Given the description of an element on the screen output the (x, y) to click on. 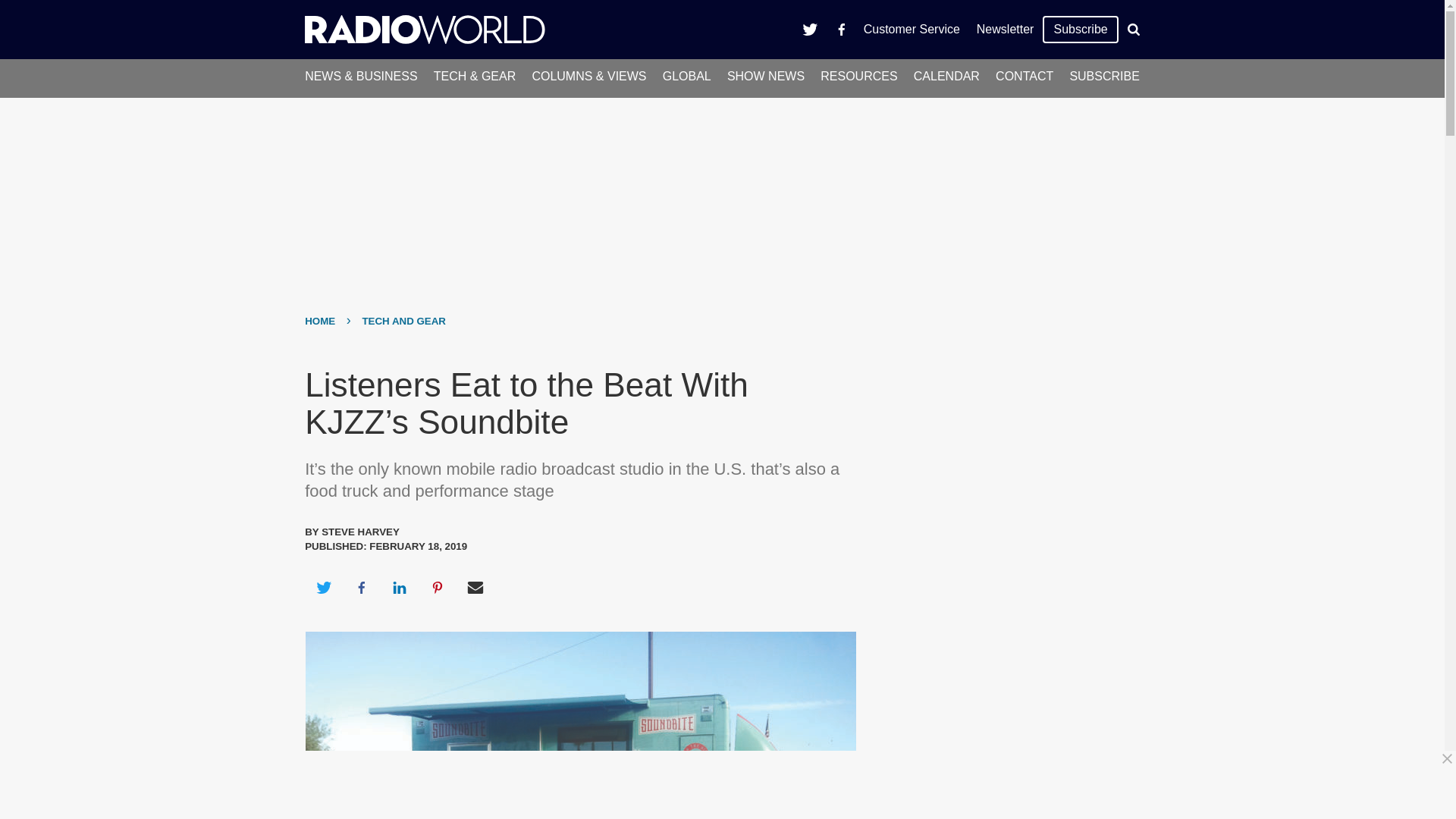
Share on LinkedIn (399, 587)
Advertisement (727, 785)
Newsletter (1005, 29)
Advertisement (1005, 667)
Customer Service (912, 29)
Share on Pinterest (438, 587)
Share on Facebook (361, 587)
Share on Twitter (323, 587)
Share via Email (476, 587)
